Given the description of an element on the screen output the (x, y) to click on. 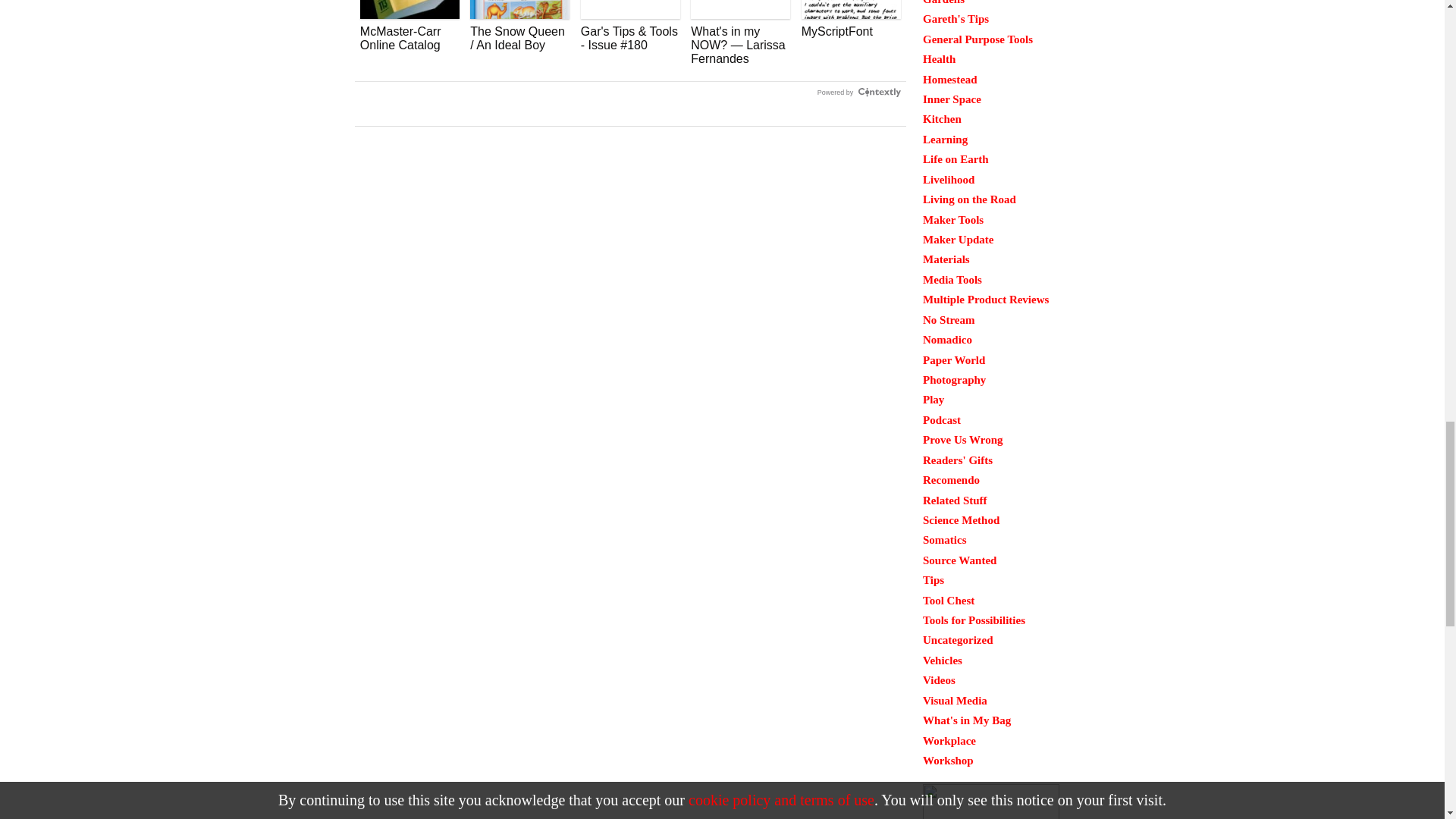
McMaster-Carr Online Catalog (409, 26)
McMaster-Carr Online Catalog (409, 26)
MyScriptFont (851, 19)
MyScriptFont (851, 19)
Powered by (858, 92)
